Given the description of an element on the screen output the (x, y) to click on. 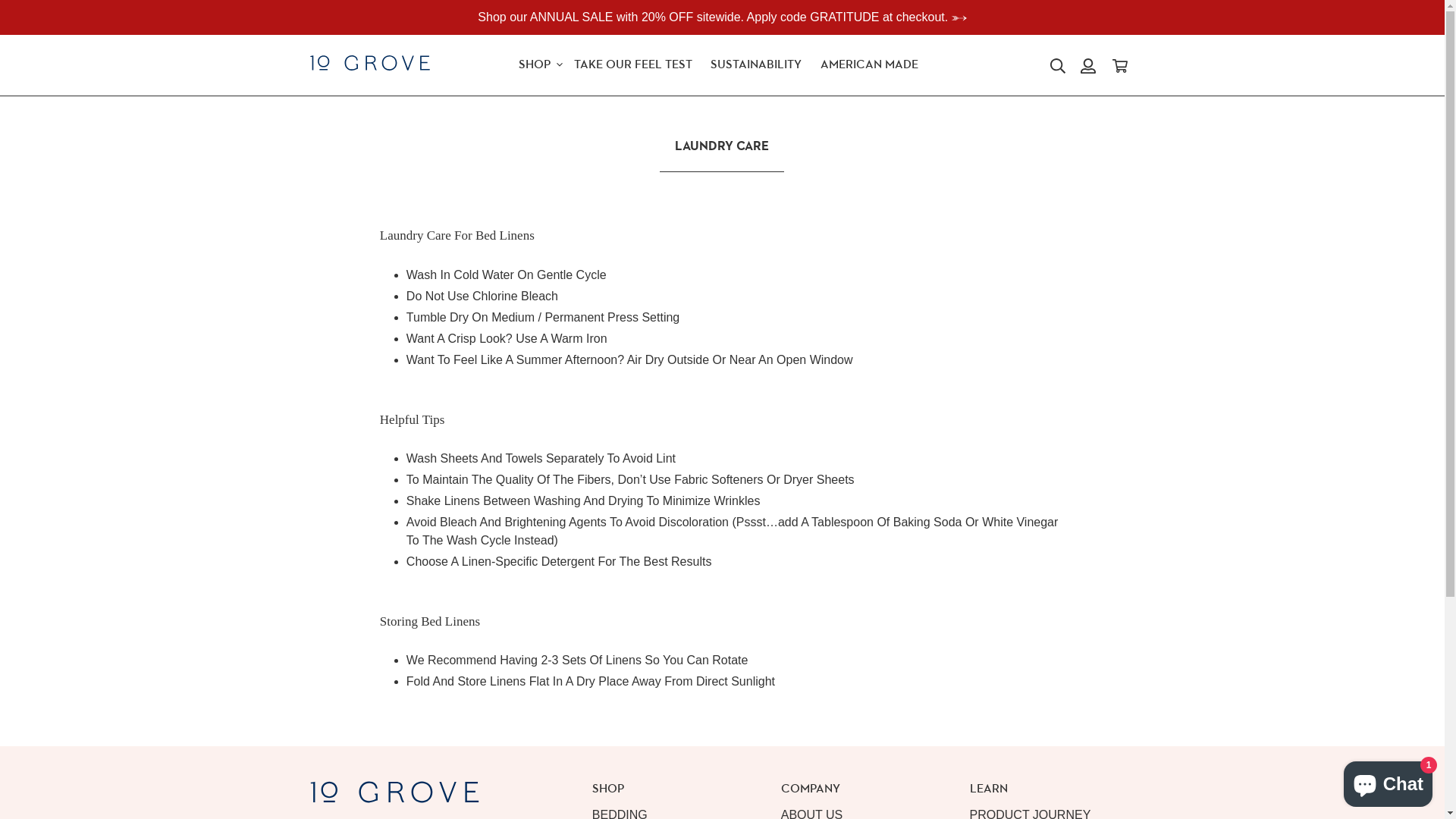
AMERICAN MADE Element type: text (868, 64)
Log in Element type: text (1088, 64)
Search Element type: text (1057, 65)
Shopify online store chat Element type: hover (1388, 780)
SUSTAINABILITY Element type: text (755, 64)
TAKE OUR FEEL TEST Element type: text (632, 64)
